Given the description of an element on the screen output the (x, y) to click on. 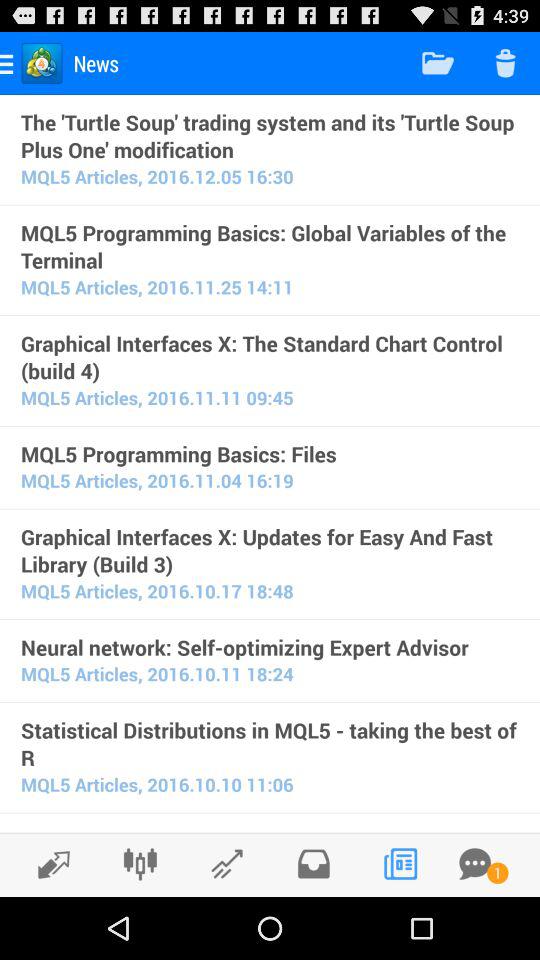
tap the the turtle soup item (270, 135)
